Given the description of an element on the screen output the (x, y) to click on. 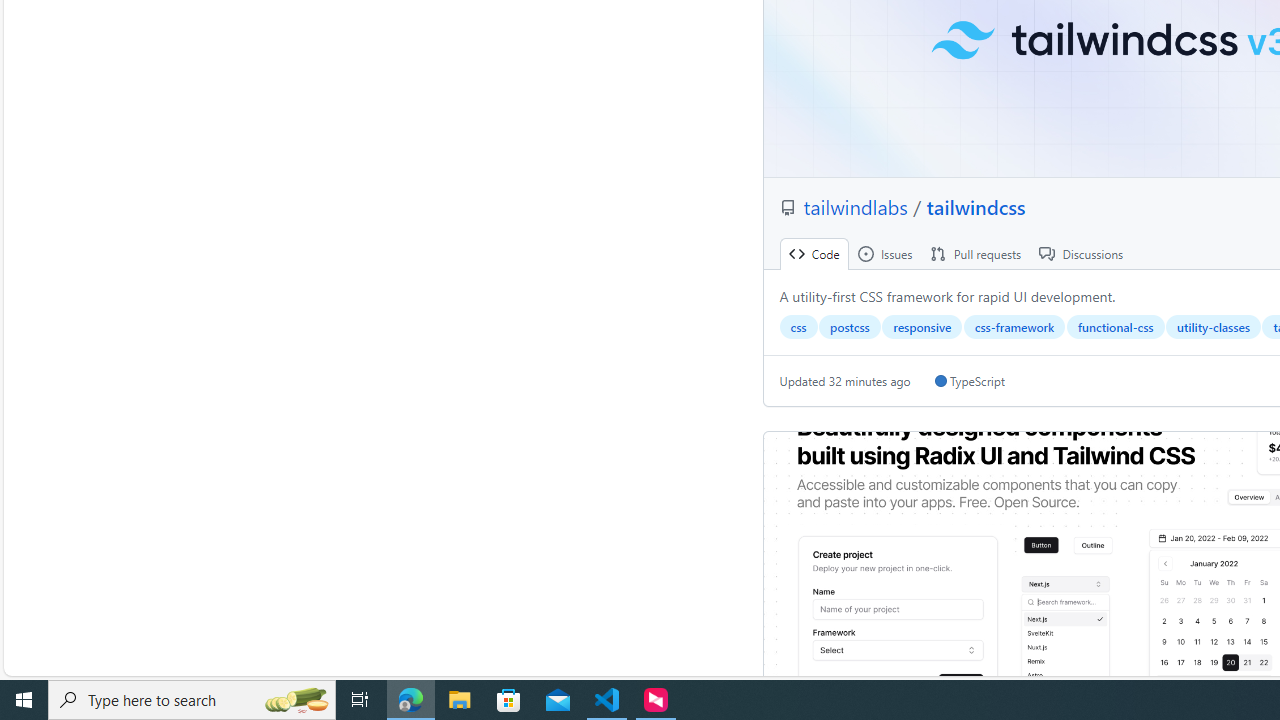
functional-css (1115, 327)
 Pull requests (975, 254)
 Code (813, 254)
